Given the description of an element on the screen output the (x, y) to click on. 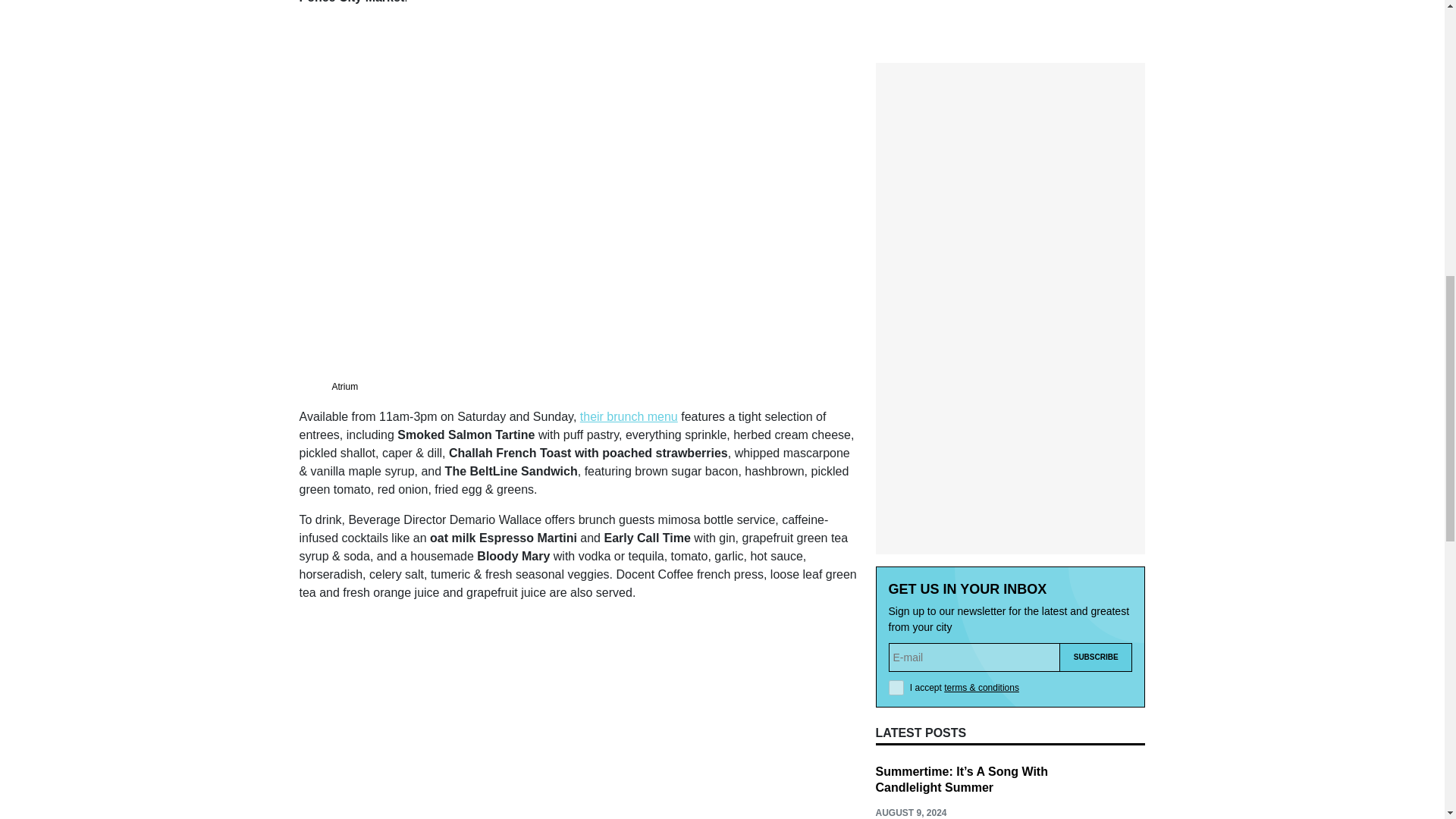
This Burlesque Karaoke Event Is A One-Of-A-Kind Night Of Fun (948, 673)
1 (896, 391)
Subscribe (1095, 361)
AUGUST 8, 2024 (910, 715)
their brunch menu (628, 416)
Subscribe (1095, 361)
AUGUST 9, 2024 (910, 516)
AUGUST 8, 2024 (910, 615)
